Given the description of an element on the screen output the (x, y) to click on. 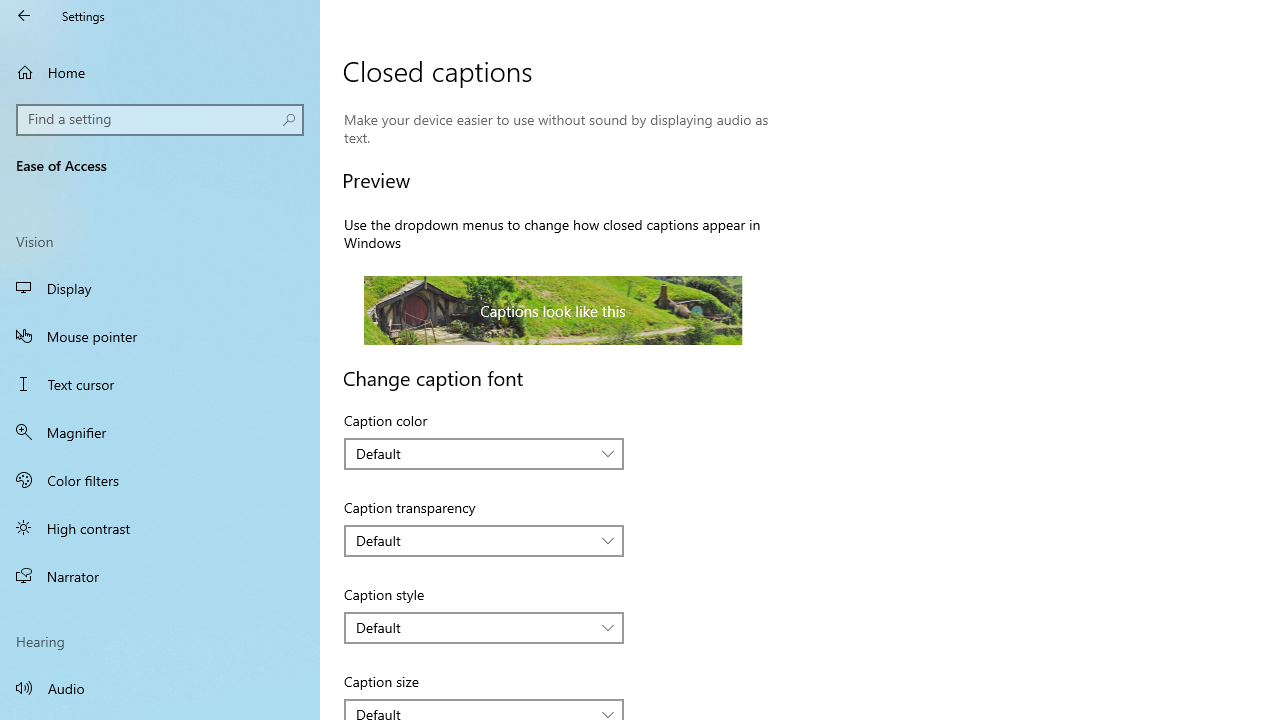
Display (160, 287)
Search box, Find a setting (160, 119)
Text cursor (160, 384)
Narrator (160, 575)
Caption transparency (484, 540)
Caption color (484, 453)
Color filters (160, 479)
Default (473, 627)
Mouse pointer (160, 335)
Caption style (484, 627)
High contrast (160, 527)
Magnifier (160, 431)
Audio (160, 687)
